Given the description of an element on the screen output the (x, y) to click on. 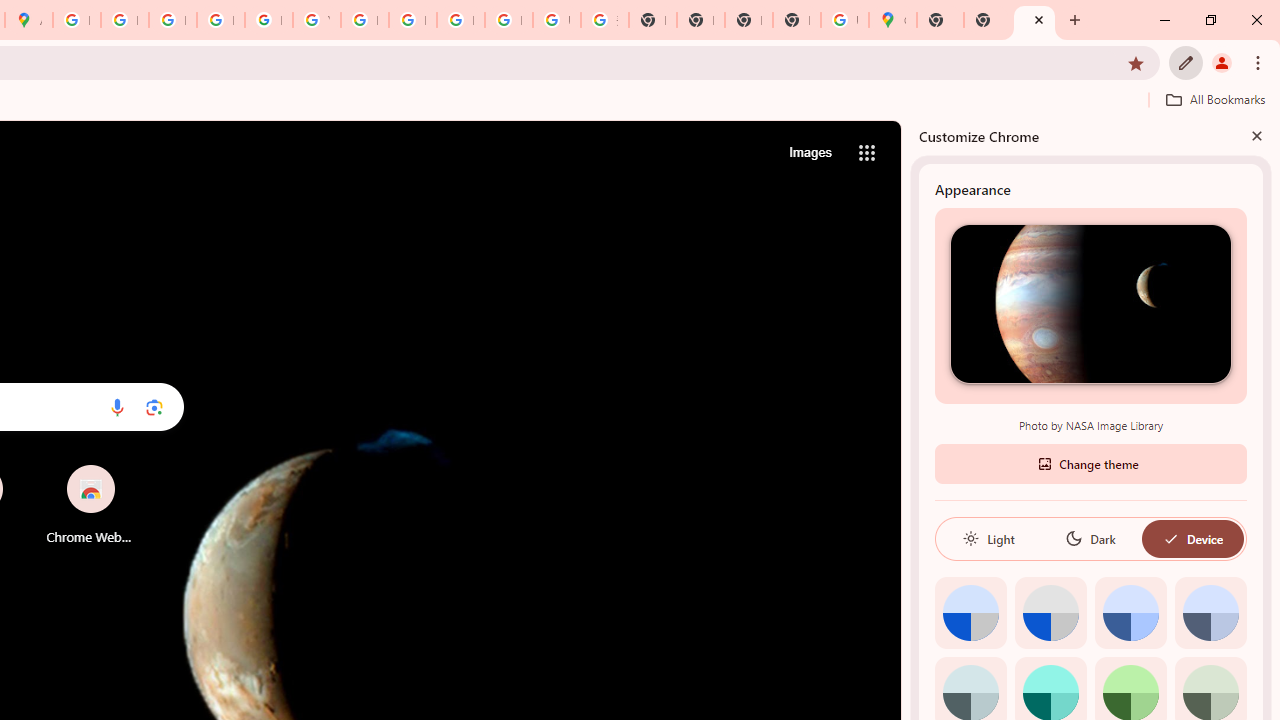
Default color (970, 612)
Change theme (1090, 462)
YouTube (316, 20)
AutomationID: baseSvg (1170, 538)
Blue (1130, 612)
Remove (130, 466)
